Given the description of an element on the screen output the (x, y) to click on. 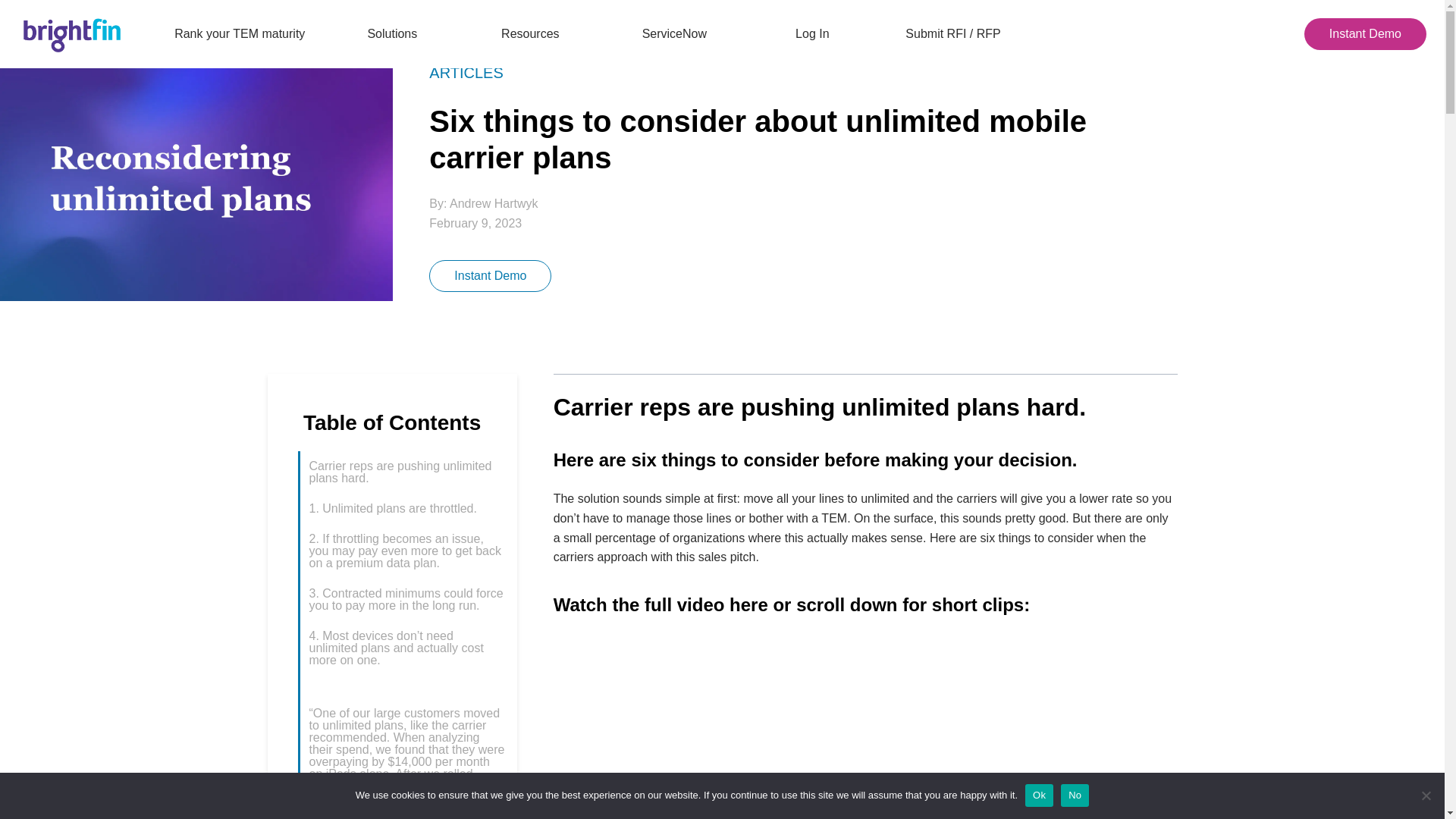
Rank your TEM maturity (239, 33)
Resources (535, 33)
ServiceNow (674, 33)
Log In (812, 33)
Solutions (398, 33)
Solutions (398, 33)
Log In (812, 33)
Rank your TEM maturity (239, 33)
Resources (535, 33)
ServiceNow (674, 33)
